Given the description of an element on the screen output the (x, y) to click on. 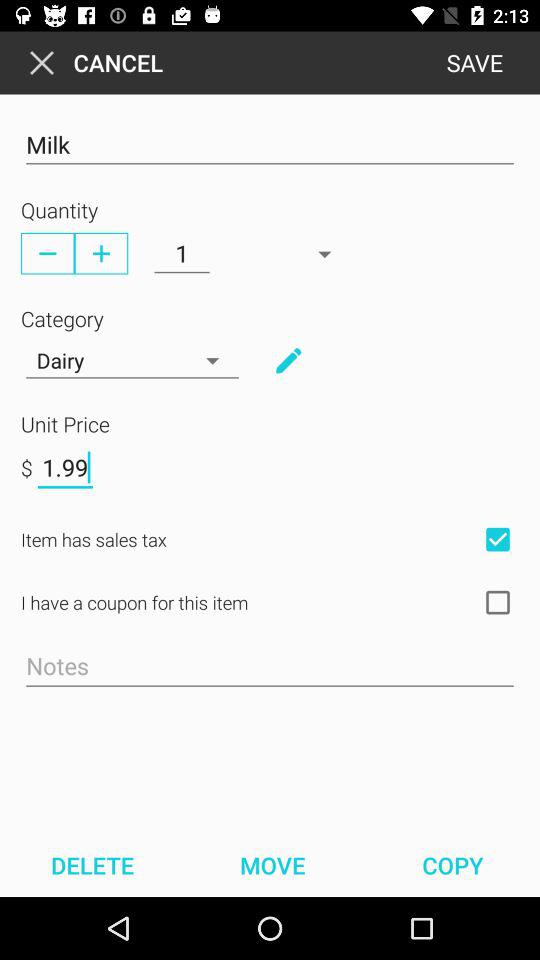
coupon checkbox (498, 602)
